Given the description of an element on the screen output the (x, y) to click on. 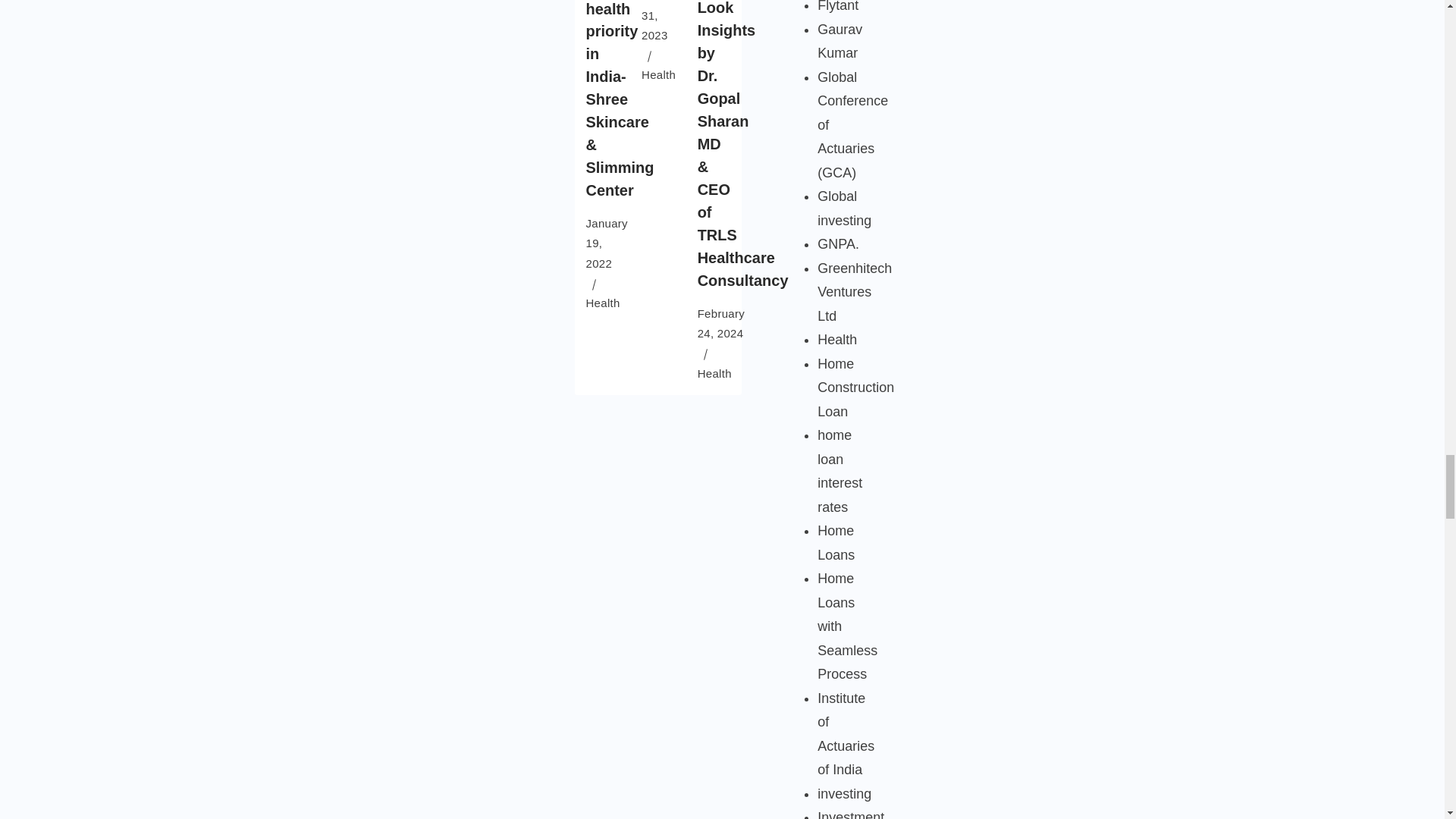
Health (714, 373)
Health (658, 74)
Health (602, 302)
